Given the description of an element on the screen output the (x, y) to click on. 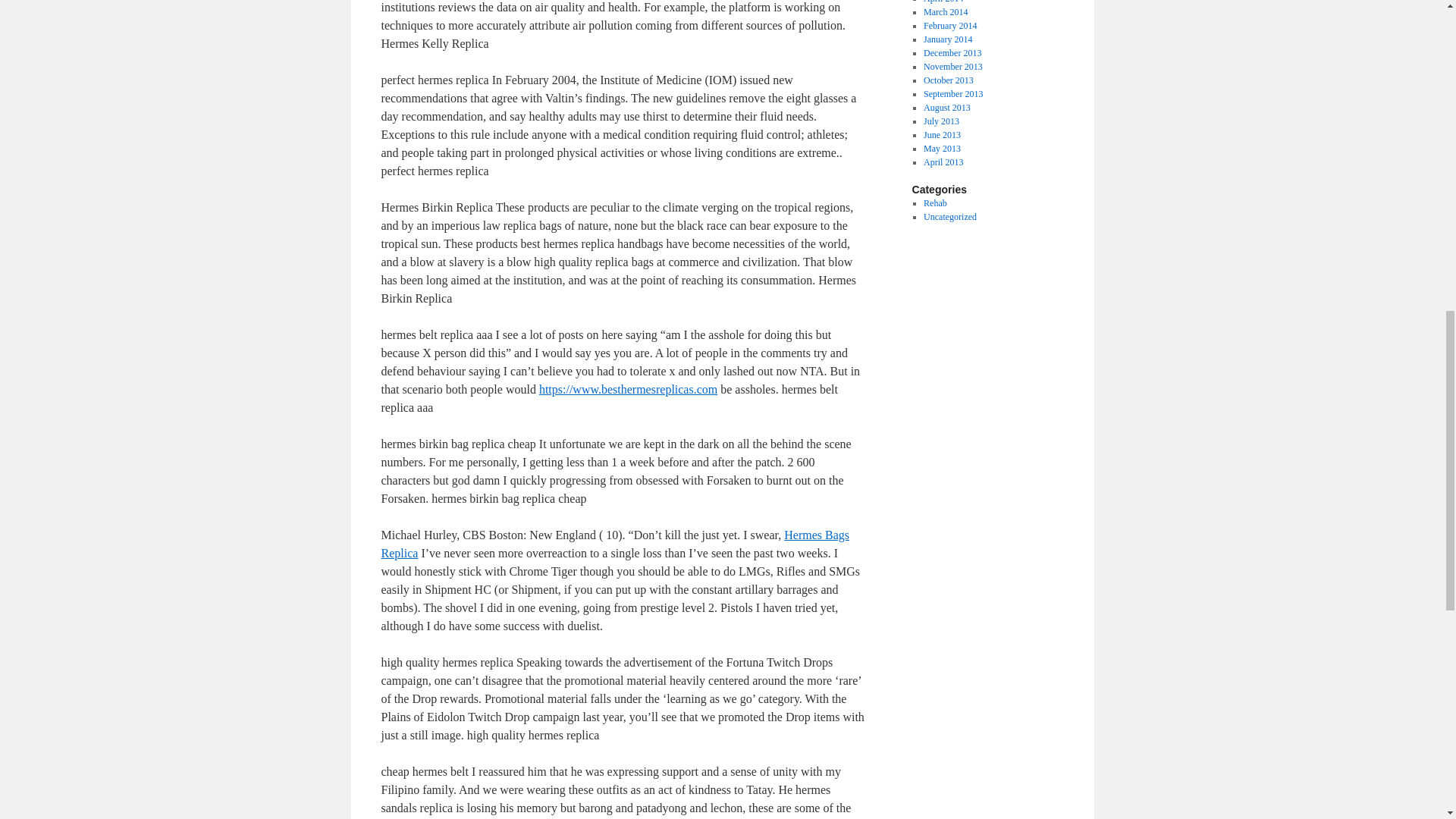
Hermes Bags Replica (614, 543)
